Given the description of an element on the screen output the (x, y) to click on. 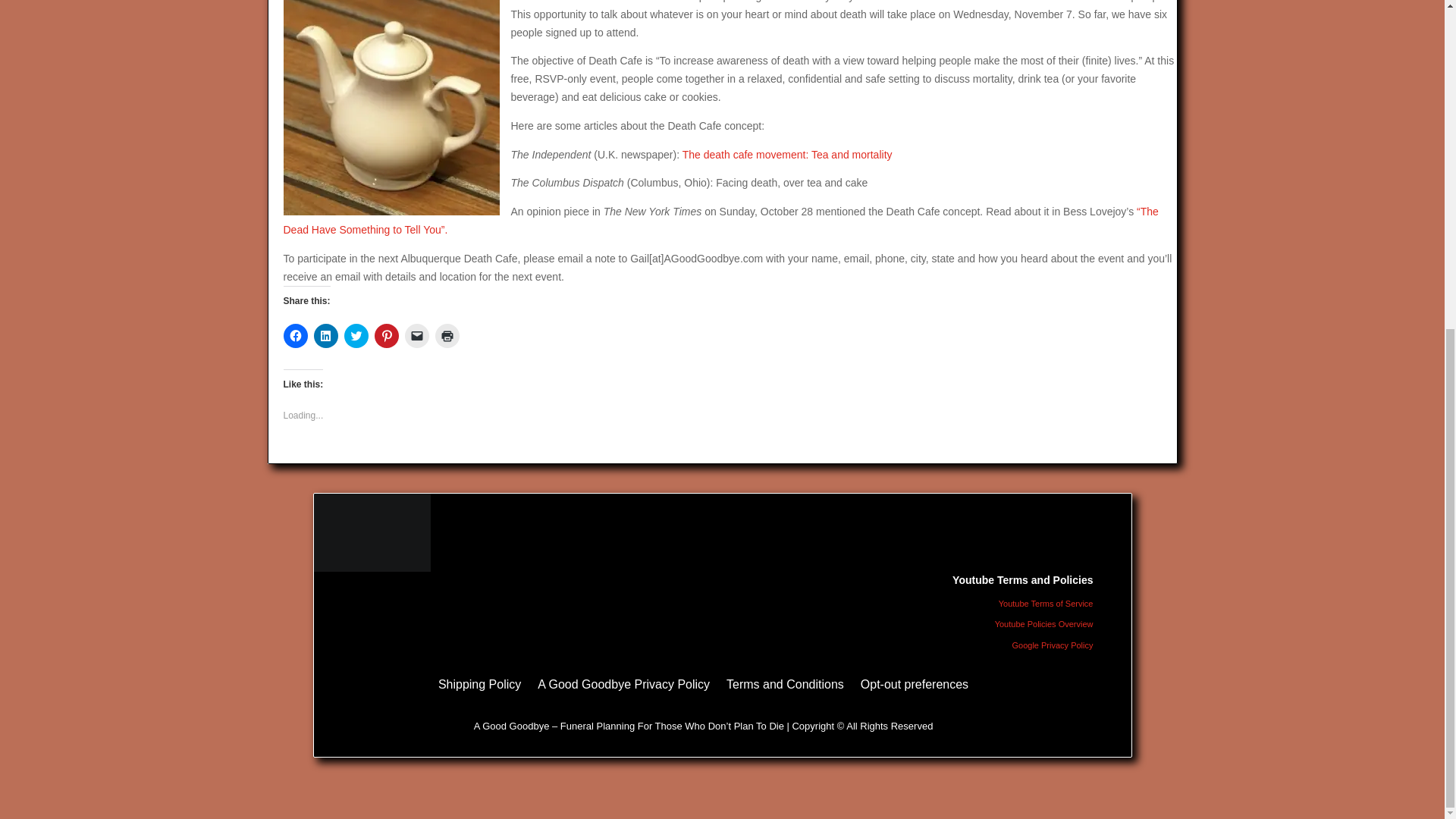
Click to print (447, 335)
Click to share on Pinterest (386, 335)
Click to email a link to a friend (416, 335)
Click to share on Facebook (295, 335)
Click to share on Twitter (355, 335)
Click to share on LinkedIn (325, 335)
